Given the description of an element on the screen output the (x, y) to click on. 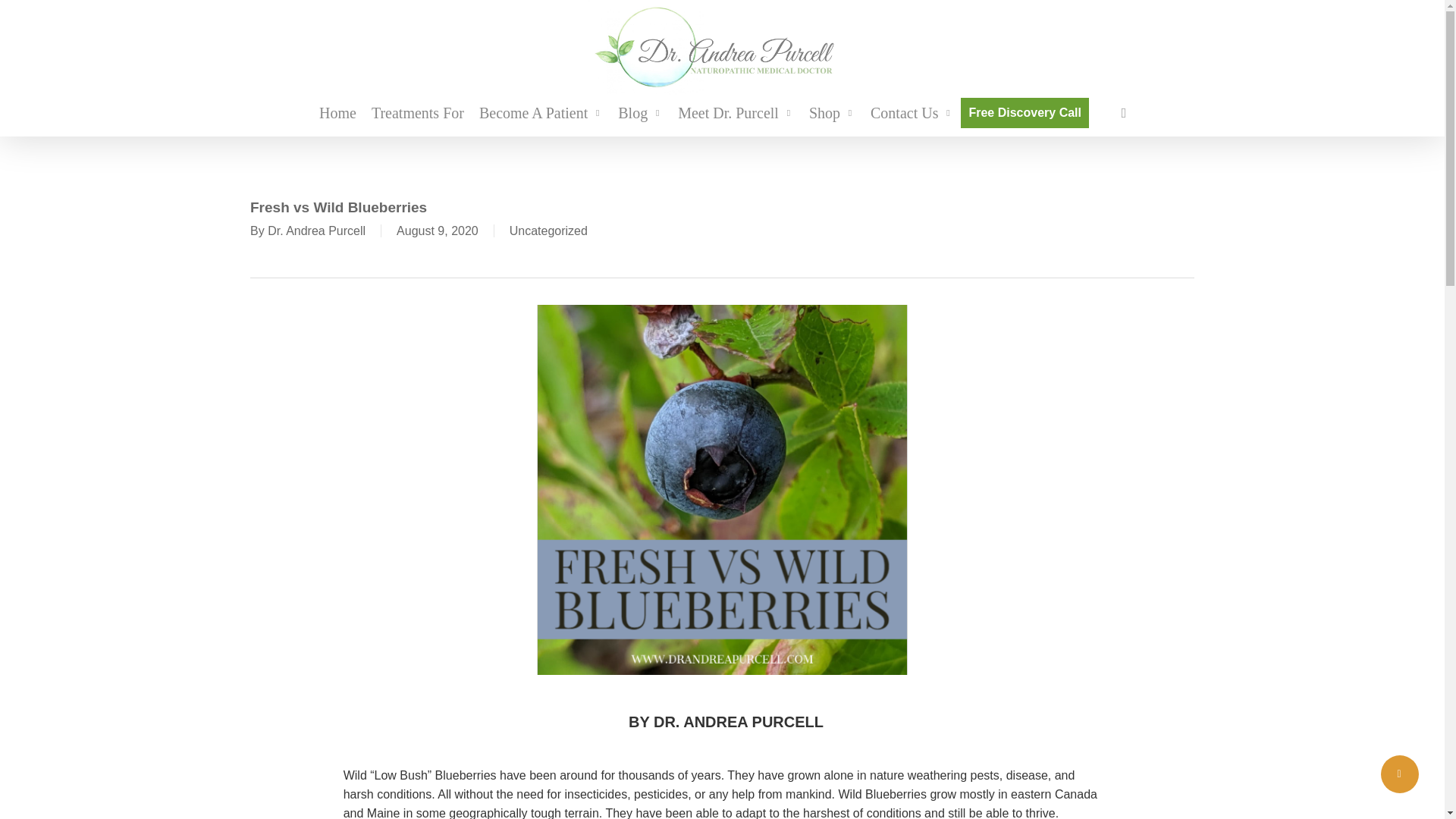
search (1123, 112)
Become A Patient (540, 112)
Blog (639, 112)
Dr. Andrea Purcell (316, 230)
Contact Us (911, 112)
Treatments For (417, 112)
Uncategorized (548, 230)
Posts by Dr. Andrea Purcell (316, 230)
Meet Dr. Purcell (735, 112)
Shop (832, 112)
